Given the description of an element on the screen output the (x, y) to click on. 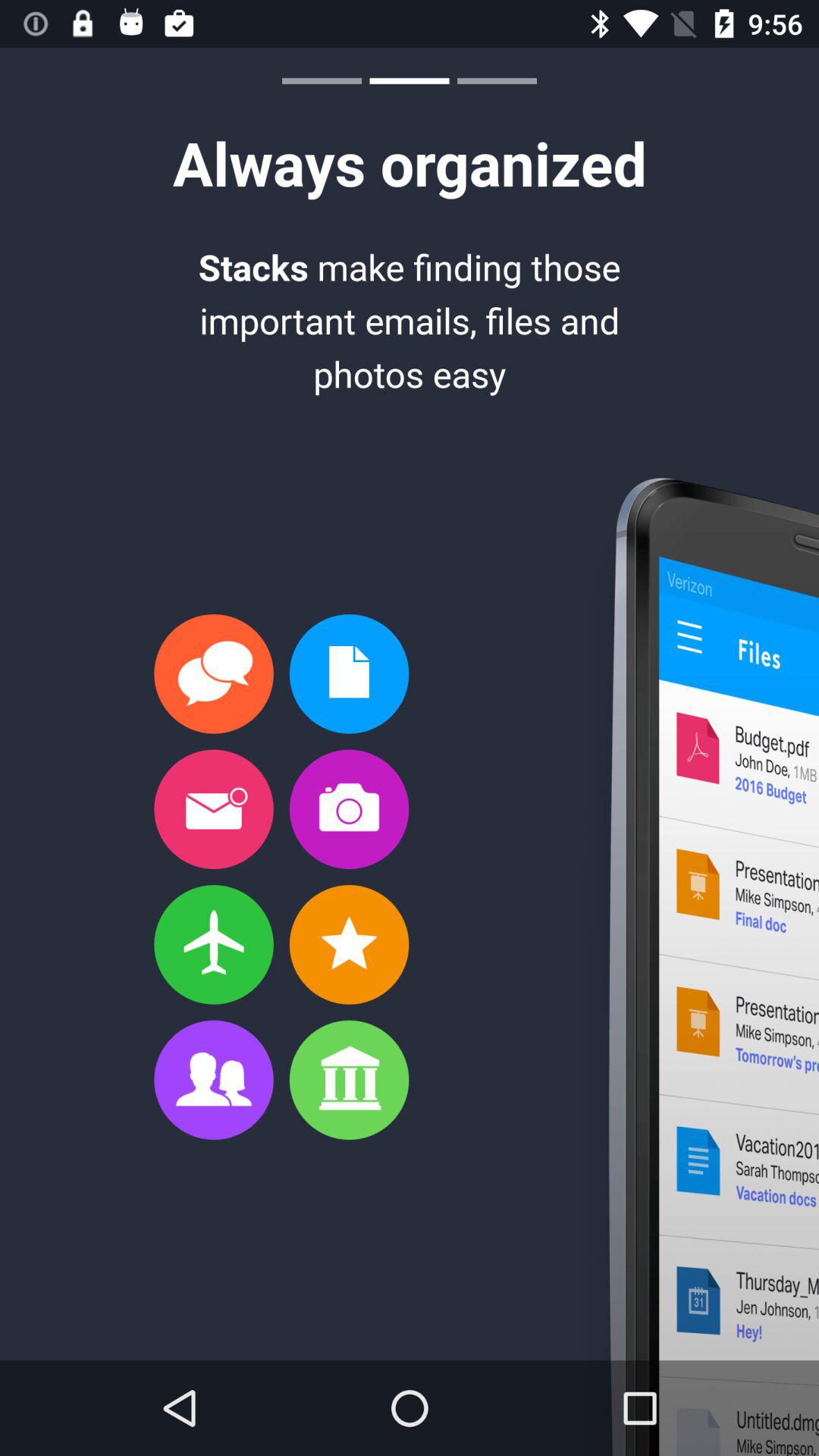
go to first option (213, 673)
click on the star image option (348, 944)
select a camera button on a page (348, 809)
click on the first option in third row (213, 944)
select the icon which is at the second row first column (213, 809)
select the image having mobile (691, 966)
